Given the description of an element on the screen output the (x, y) to click on. 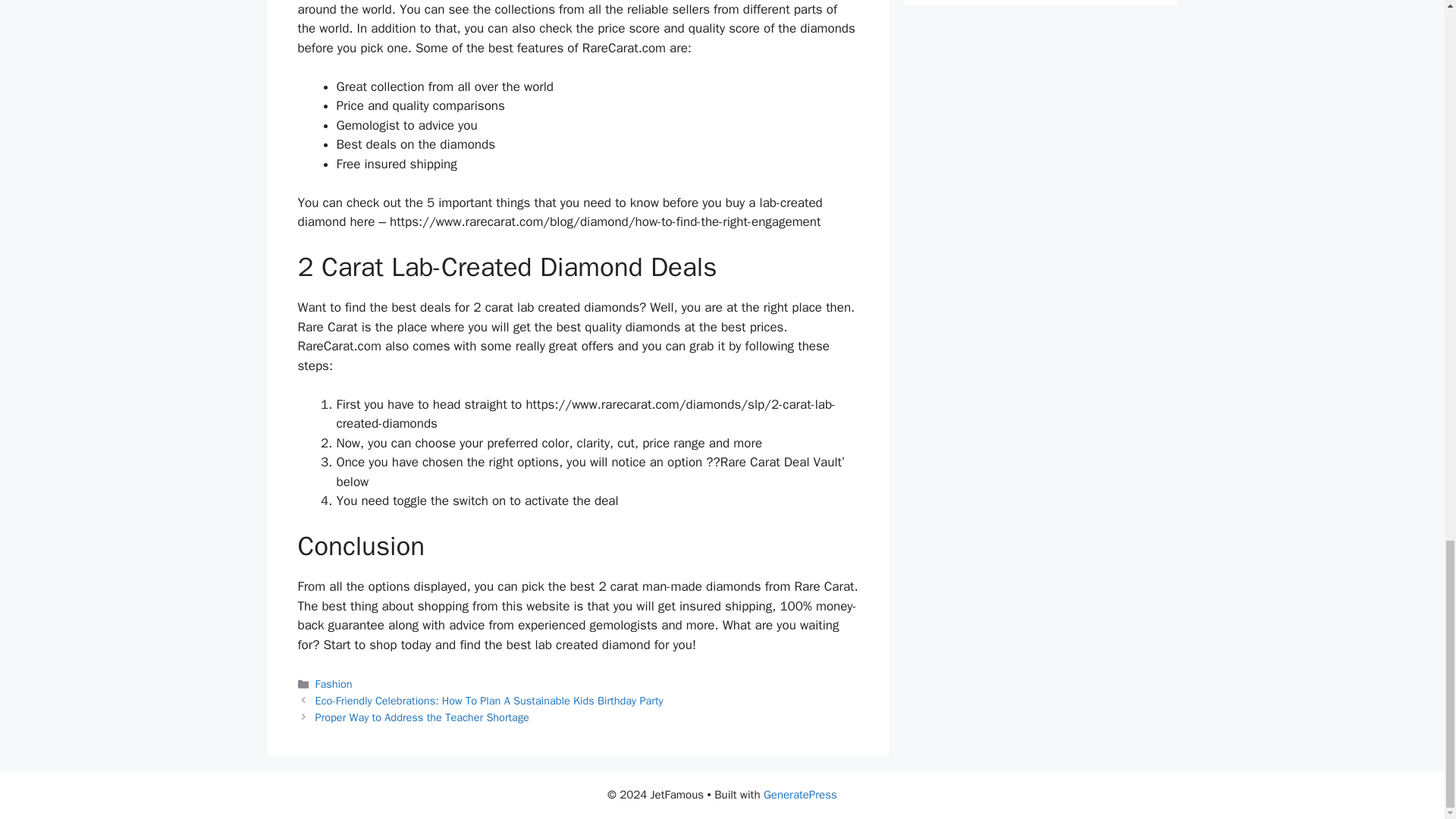
Fashion (333, 684)
Proper Way to Address the Teacher Shortage (422, 716)
